Given the description of an element on the screen output the (x, y) to click on. 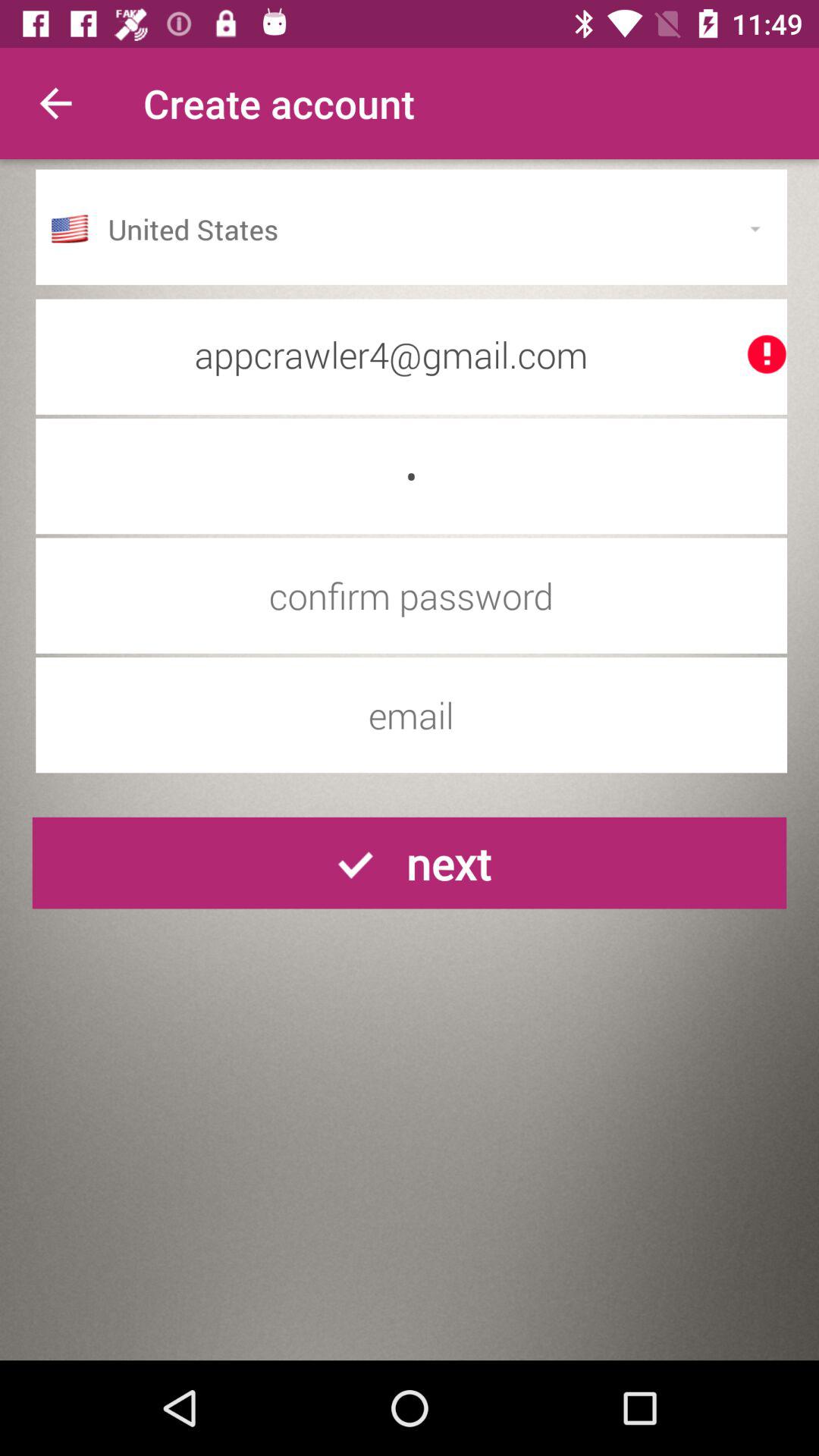
select appcrawler4@gmail.com (411, 354)
